Given the description of an element on the screen output the (x, y) to click on. 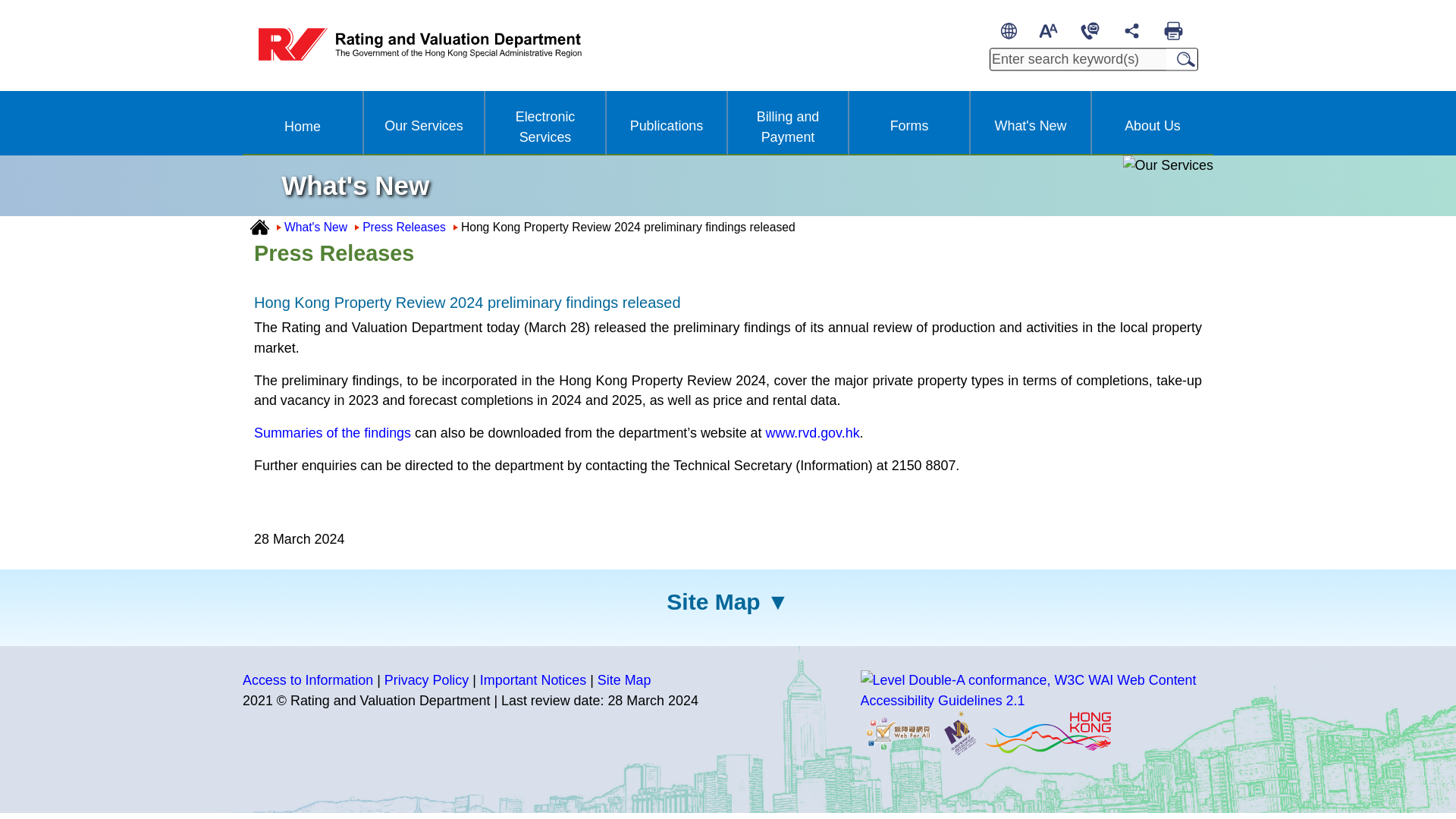
Our Services (423, 125)
Home (259, 226)
Contact Us (1089, 30)
What's New (315, 226)
Home (301, 126)
Press Releases (403, 226)
search alt text (1078, 59)
Font Size (1048, 30)
language (1007, 30)
Rating and Valuation Department (419, 45)
